Given the description of an element on the screen output the (x, y) to click on. 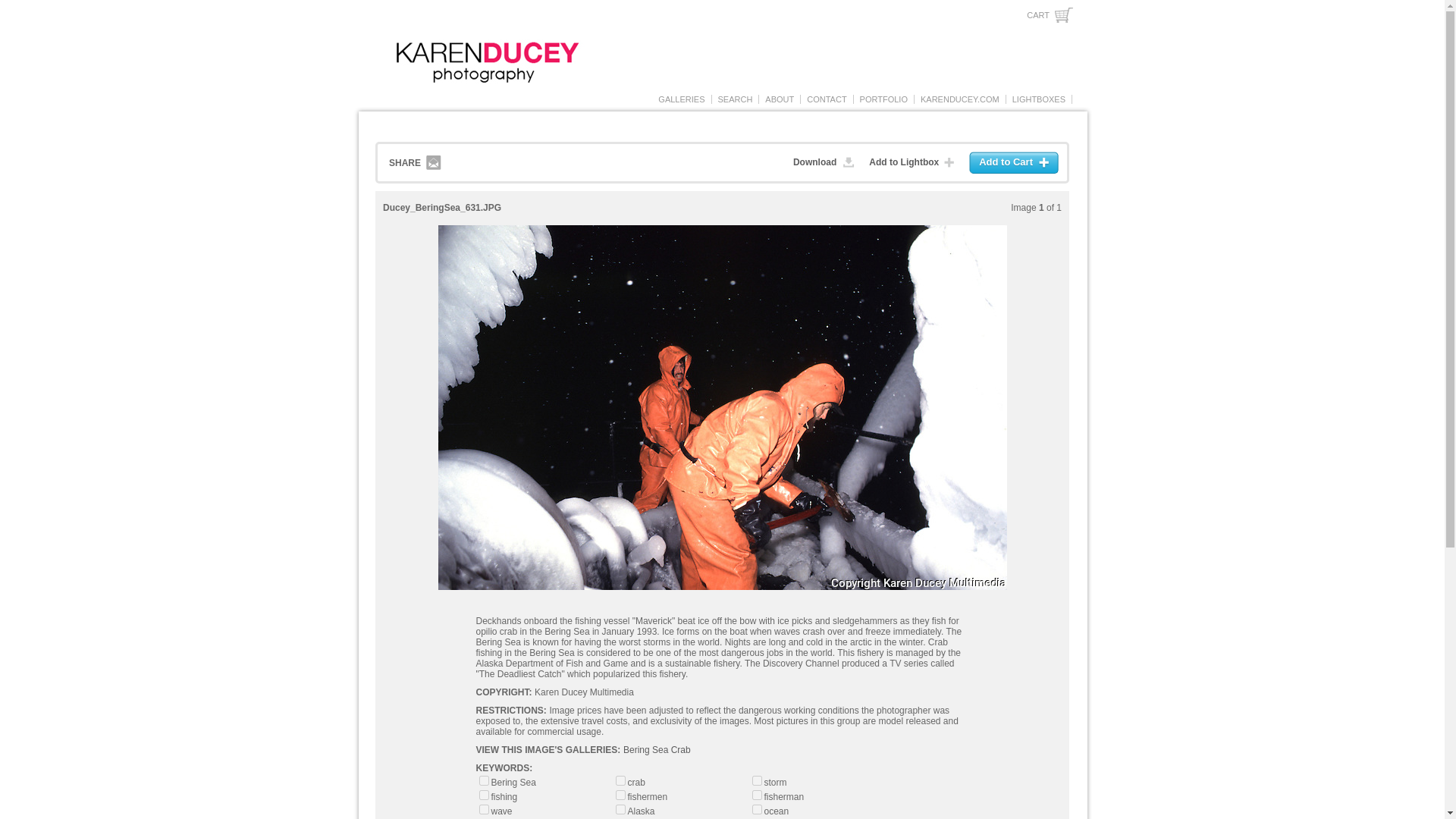
fishing (484, 795)
CART (1049, 14)
LIGHTBOXES (1038, 99)
CONTACT (826, 99)
fishermen (620, 795)
Add to Lightbox (914, 162)
KarenDucey.com (960, 99)
wave (484, 809)
Contact (826, 99)
Alaska (620, 809)
PORTFOLIO (883, 99)
Add to Cart (1014, 162)
SEARCH (735, 99)
KARENDUCEY.COM (960, 99)
Galleries (680, 99)
